Given the description of an element on the screen output the (x, y) to click on. 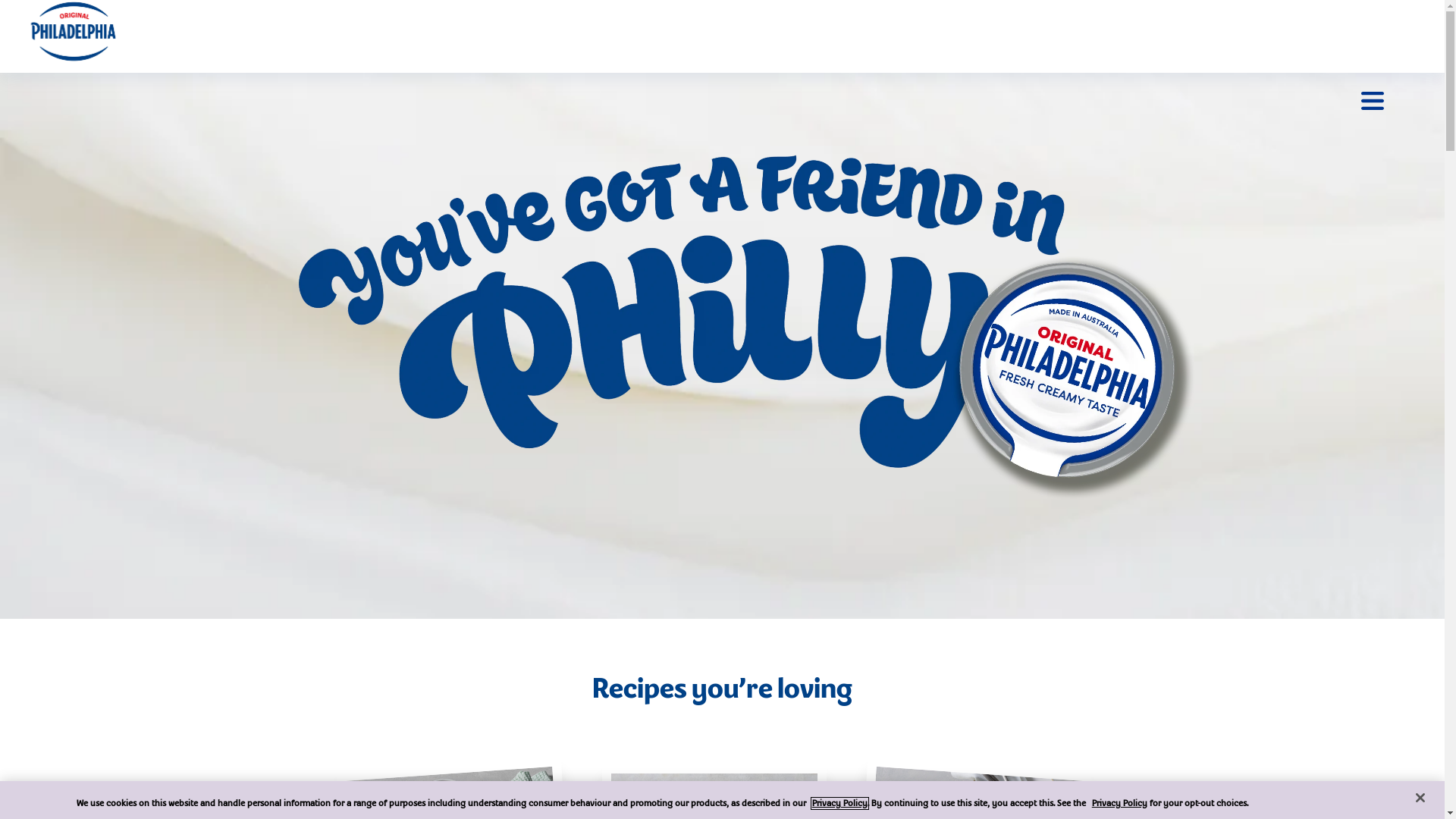
Philadelphia Element type: hover (73, 31)
Privacy Policy Element type: text (839, 803)
Privacy Policy Element type: text (1119, 803)
